Given the description of an element on the screen output the (x, y) to click on. 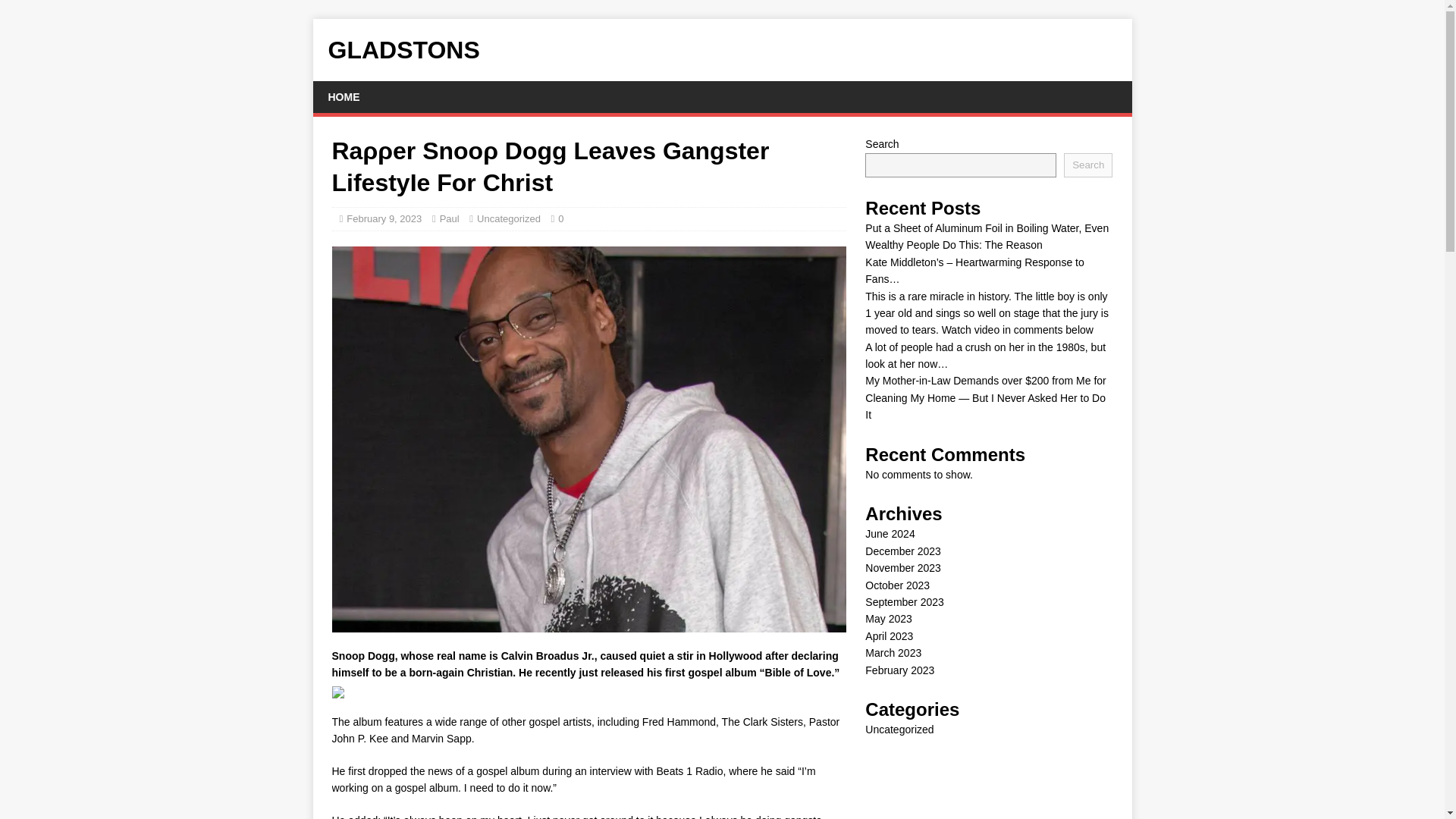
Paul (449, 218)
September 2023 (903, 602)
May 2023 (887, 618)
February 2023 (899, 670)
GladStons (721, 49)
March 2023 (892, 653)
GLADSTONS (721, 49)
Uncategorized (898, 729)
HOME (343, 97)
November 2023 (902, 567)
February 9, 2023 (384, 218)
Search (1088, 165)
October 2023 (897, 585)
